Given the description of an element on the screen output the (x, y) to click on. 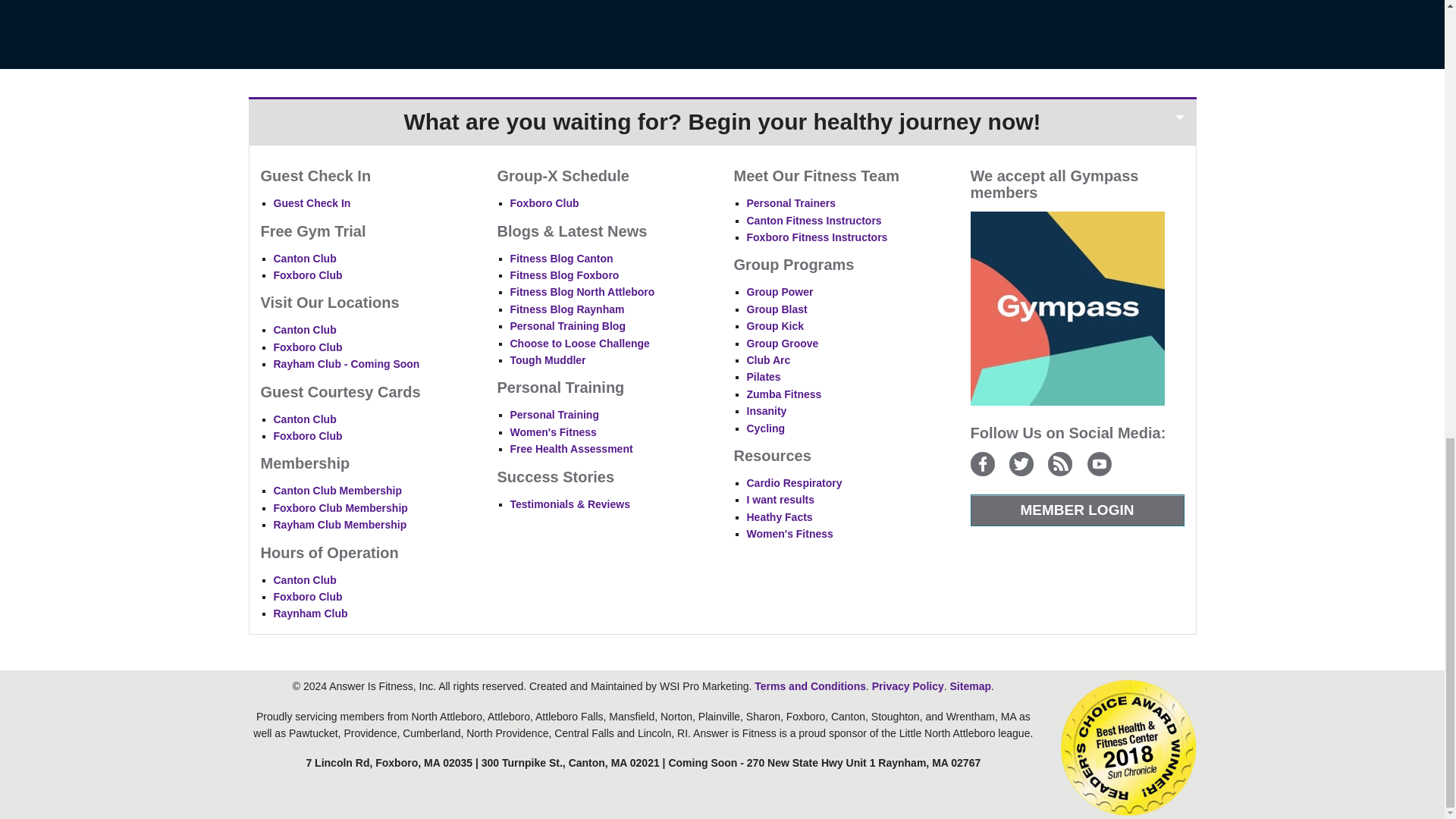
Twitter (1021, 463)
Facebook (982, 463)
RSS (1059, 463)
Reader's Choice Award Winner (1128, 747)
